Given the description of an element on the screen output the (x, y) to click on. 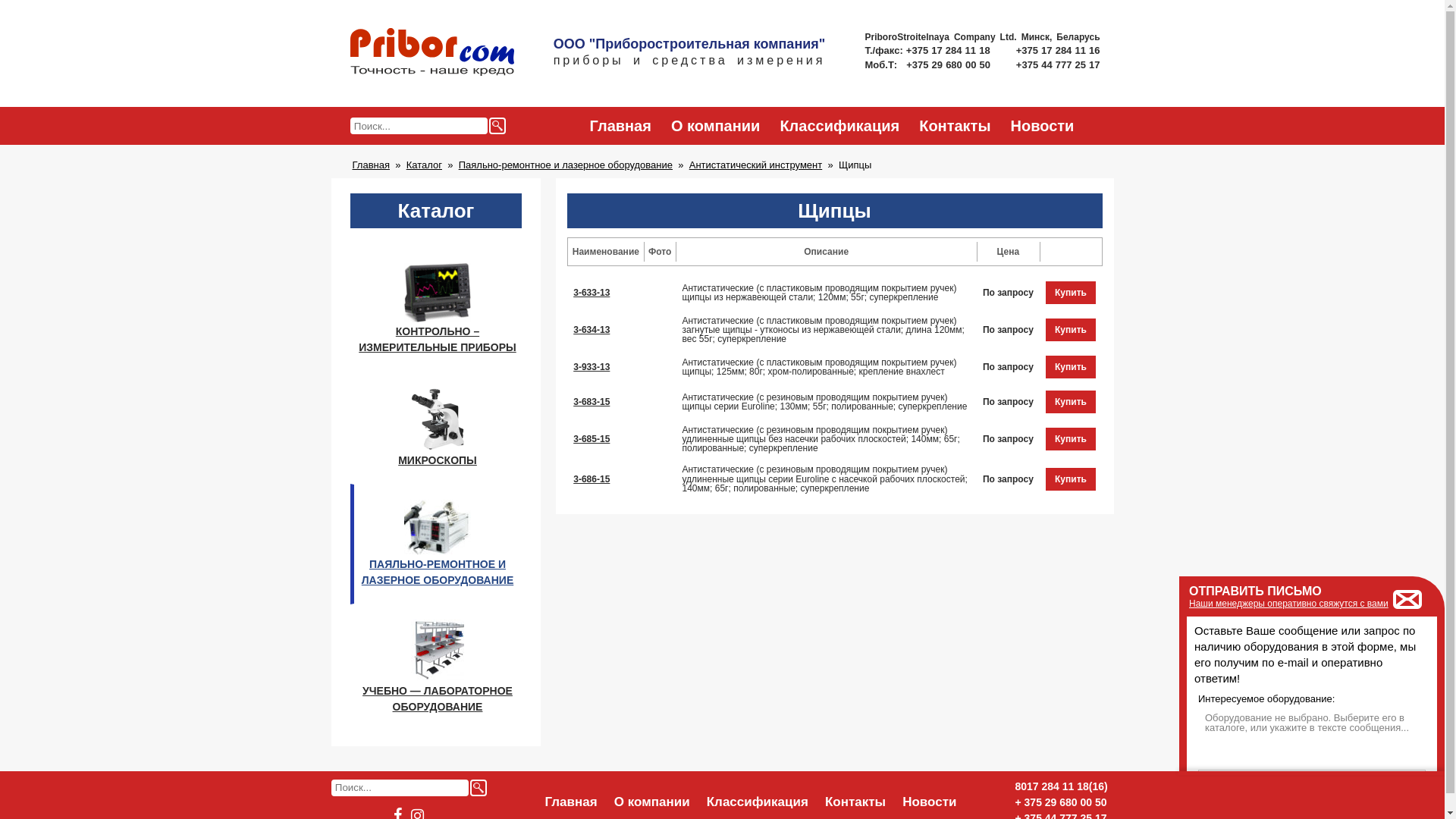
3-633-13 Element type: text (591, 292)
3-683-15 Element type: text (591, 401)
+375 17 284 11 16 Element type: text (1058, 50)
+375 44 777 25 17 Element type: text (1058, 64)
3-634-13 Element type: text (591, 329)
+375 29 680 00 50 Element type: text (949, 64)
+375 17 284 11 18 Element type: text (949, 50)
3-685-15 Element type: text (591, 438)
3-933-13 Element type: text (591, 366)
3-686-15 Element type: text (591, 478)
